Given the description of an element on the screen output the (x, y) to click on. 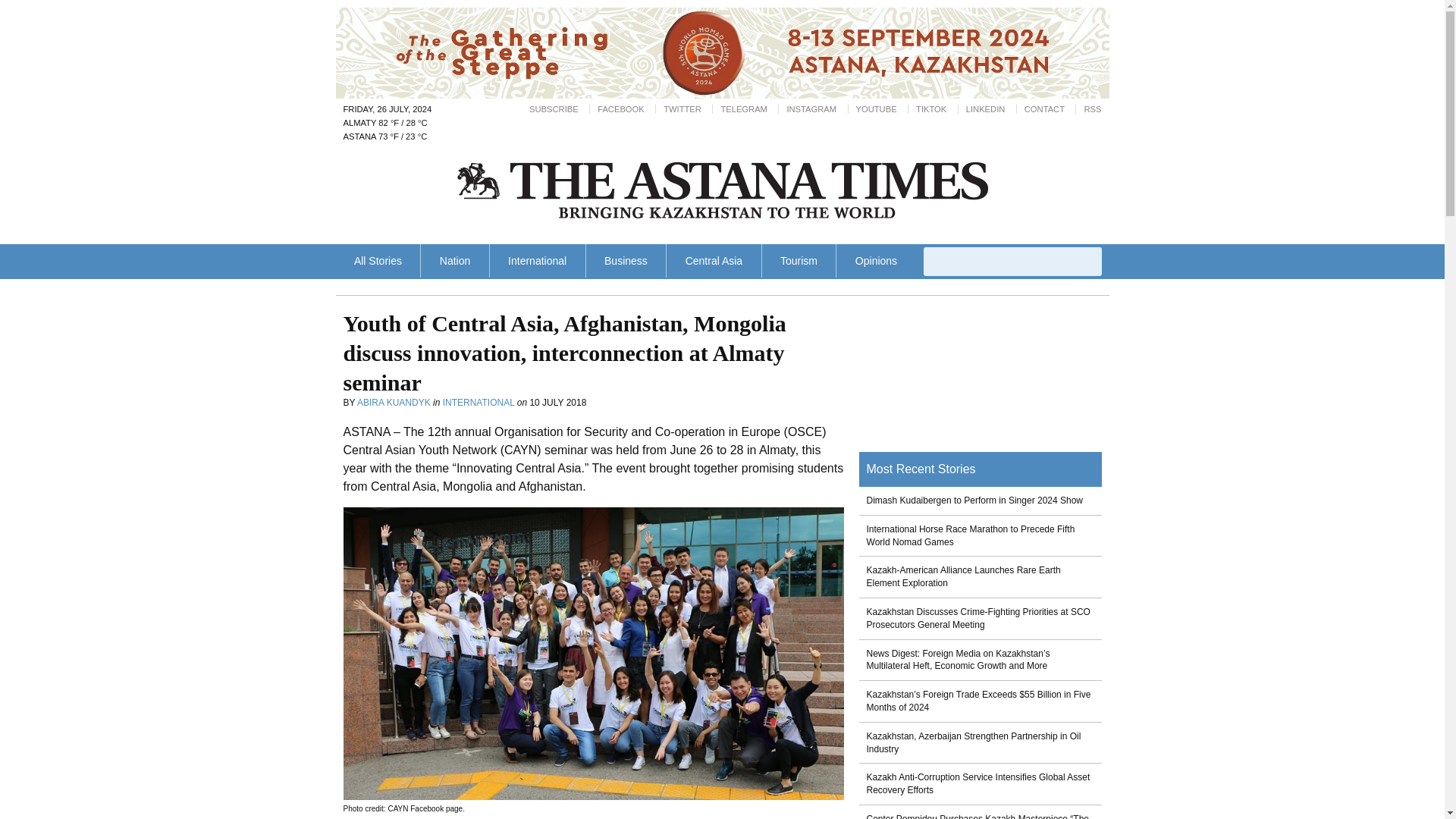
TIKTOK (930, 108)
TWITTER (682, 108)
CONTACT (1044, 108)
TELEGRAM (743, 108)
FACEBOOK (620, 108)
SUBSCRIBE (553, 108)
RSS (1091, 108)
LINKEDIN (986, 108)
INSTAGRAM (810, 108)
YOUTUBE (876, 108)
